Given the description of an element on the screen output the (x, y) to click on. 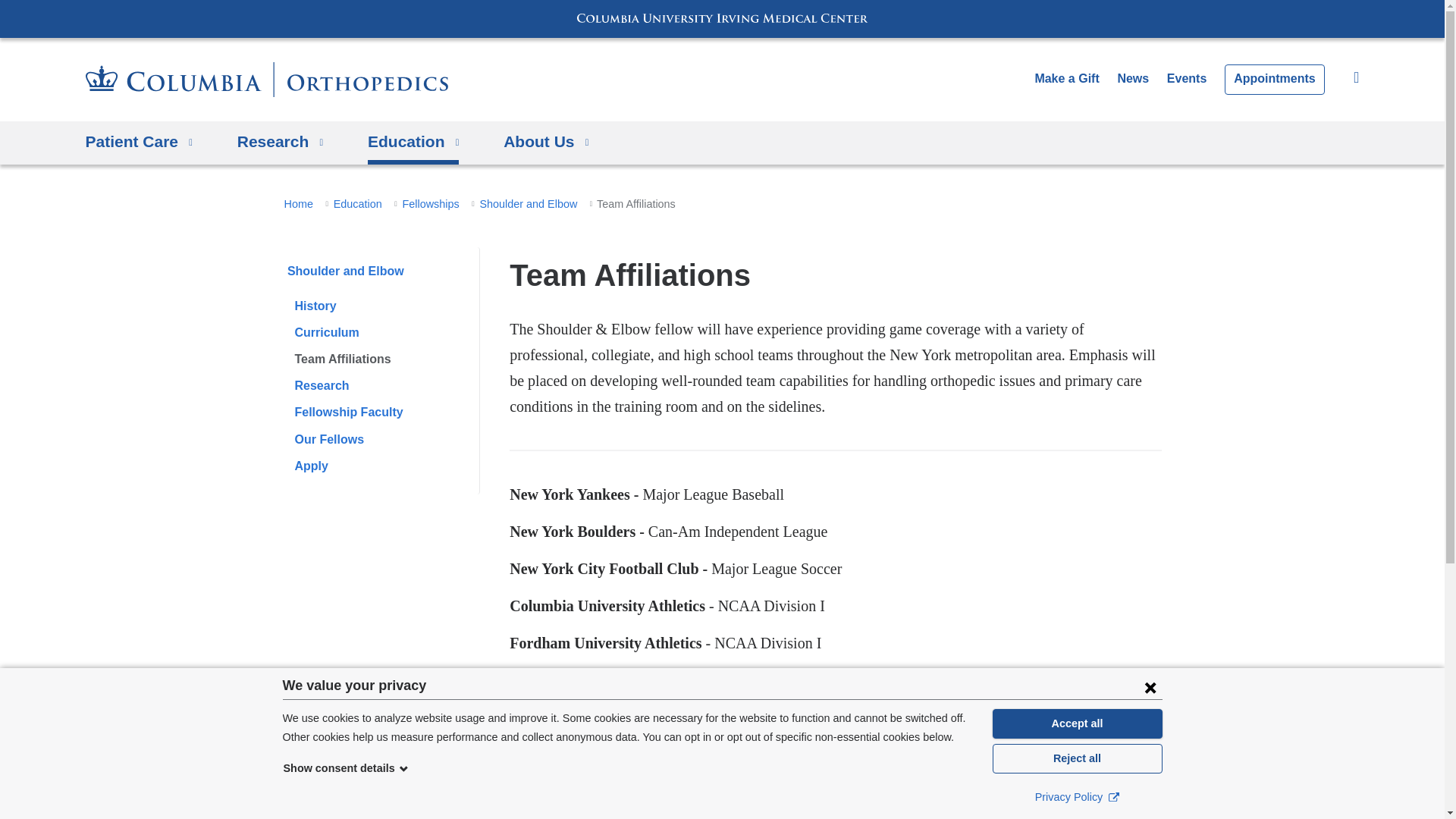
Make a Gift (1066, 78)
Appointments (1274, 79)
Privacy Policy External link Opens in a new window (1076, 796)
Events (1187, 78)
Research (280, 142)
News (1132, 78)
Columbia University Irving Medical Center (721, 17)
Home (265, 79)
External link Opens in a new window (1113, 796)
